Given the description of an element on the screen output the (x, y) to click on. 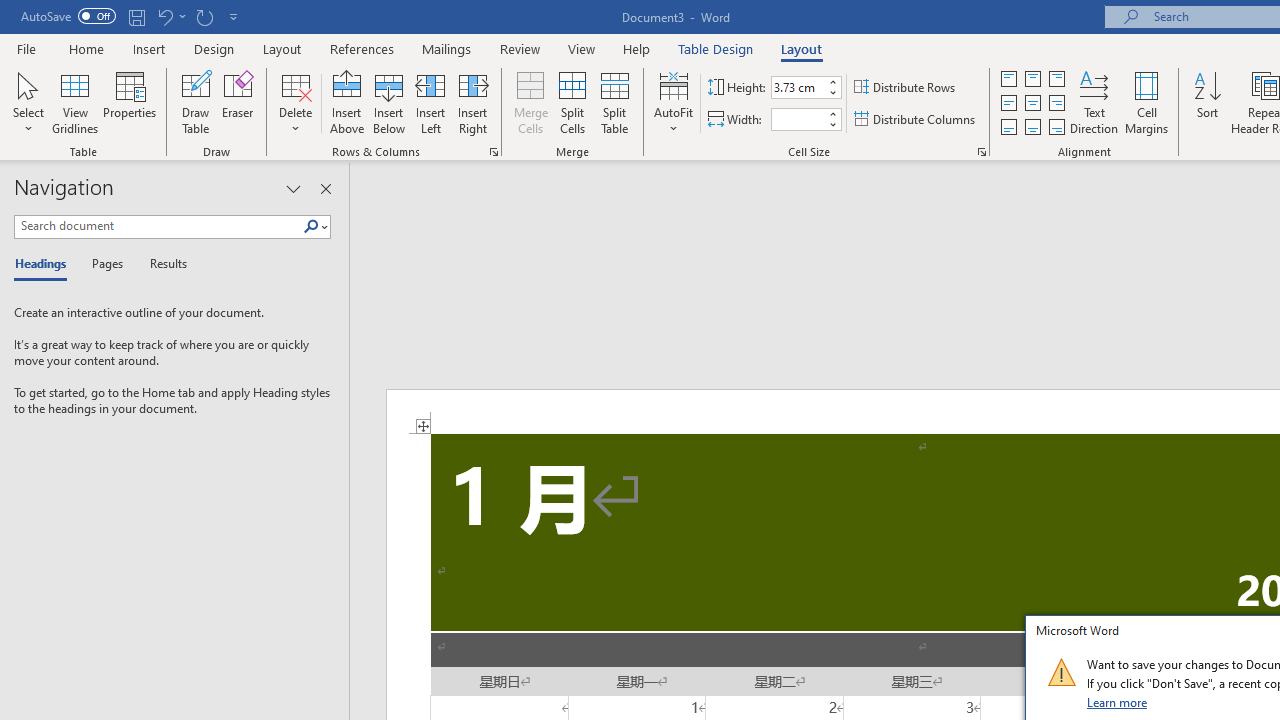
View Gridlines (75, 102)
Review (520, 48)
Select (28, 102)
Search (311, 227)
Align Top Justified (1009, 78)
File Tab (26, 48)
More Options (182, 15)
Home (86, 48)
Search (315, 227)
Align Center (1032, 103)
Learn more (1118, 702)
Text Direction (1094, 102)
Align Top Center (1032, 78)
Undo Increase Indent (164, 15)
Insert Left (430, 102)
